Given the description of an element on the screen output the (x, y) to click on. 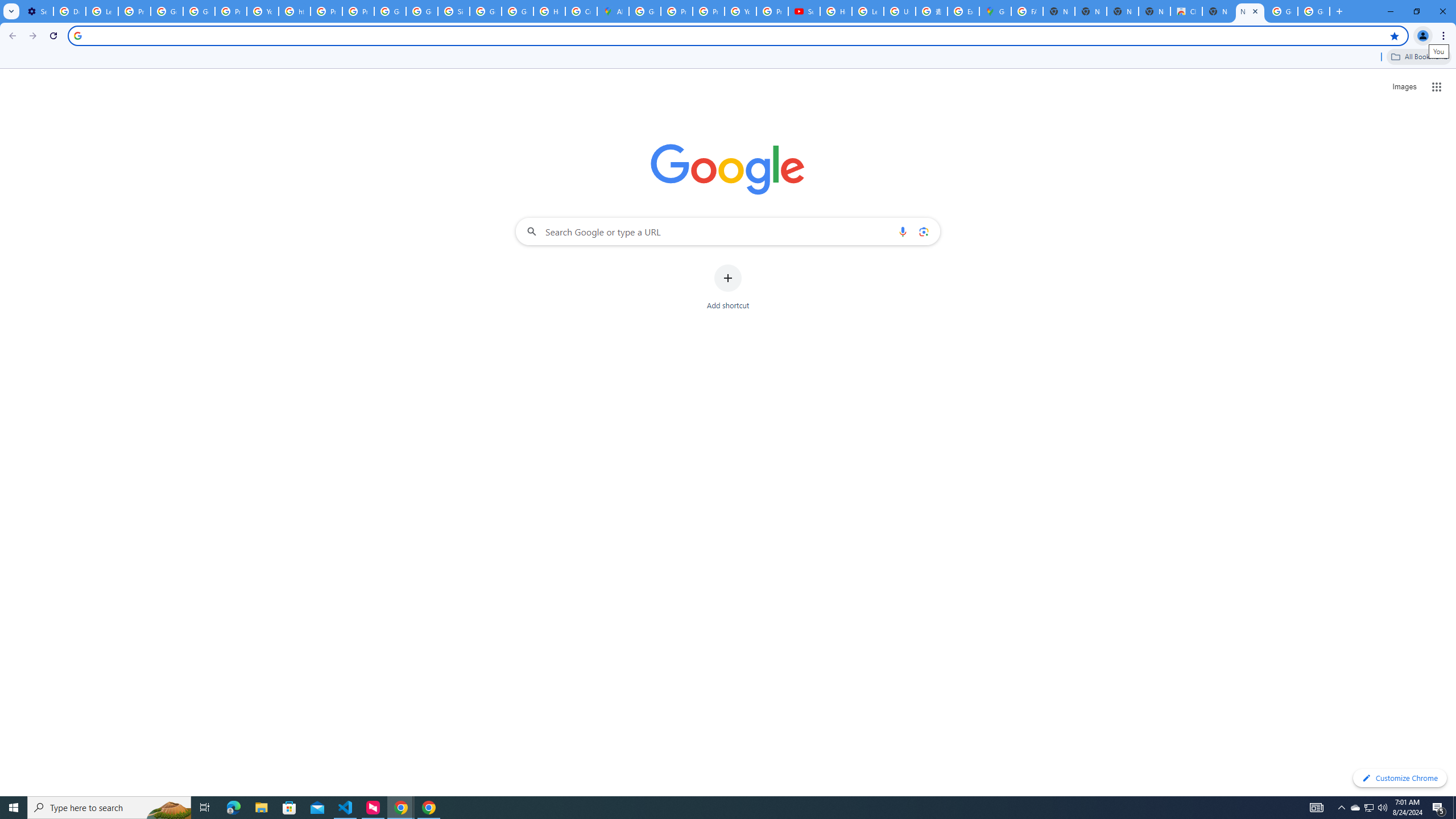
Delete photos & videos - Computer - Google Photos Help (69, 11)
How Chrome protects your passwords - Google Chrome Help (836, 11)
Create your Google Account (581, 11)
YouTube (740, 11)
